Given the description of an element on the screen output the (x, y) to click on. 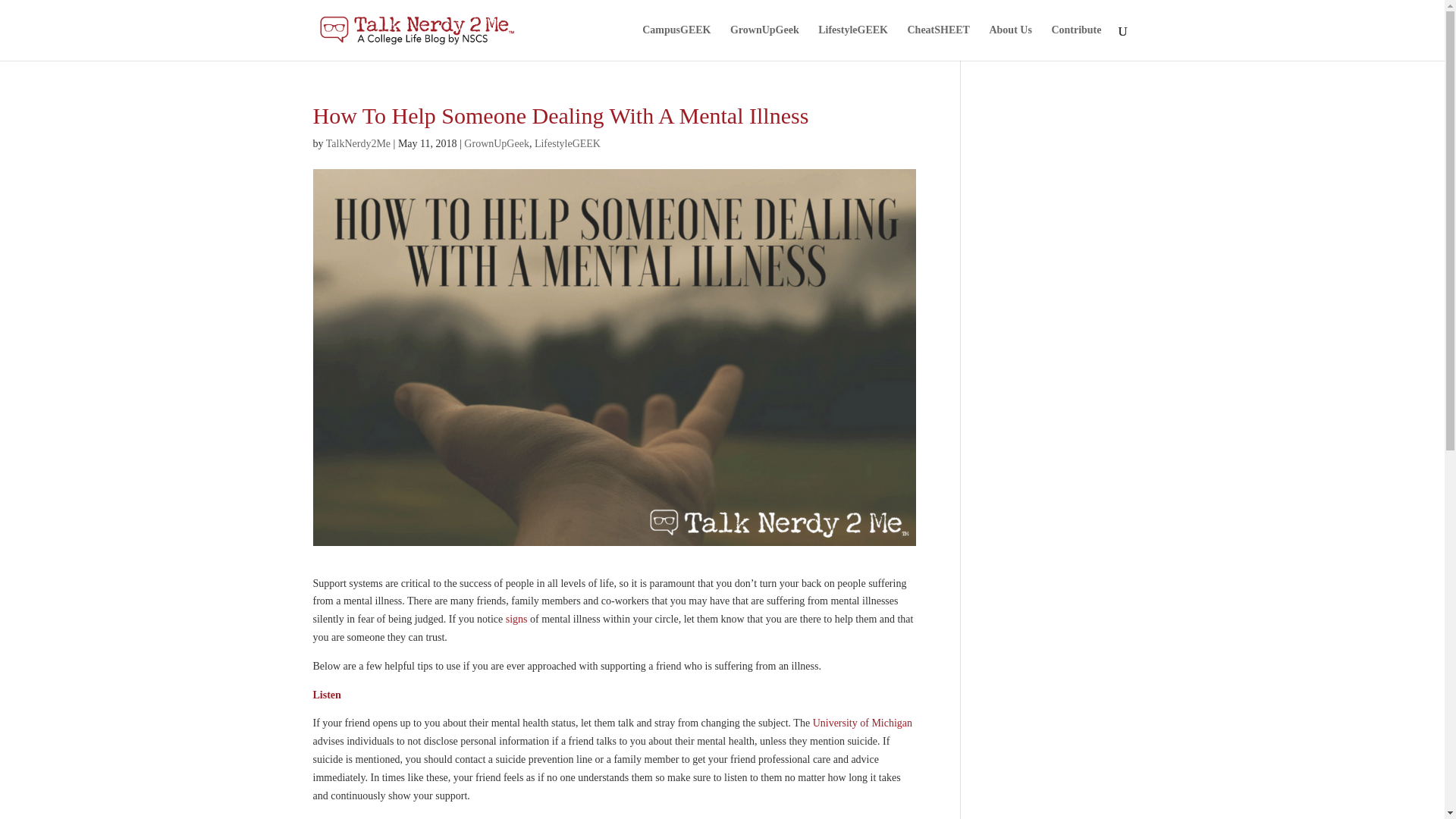
LifestyleGEEK (853, 42)
signs (516, 618)
Contribute (1075, 42)
About Us (1009, 42)
LifestyleGEEK (566, 143)
CheatSHEET (938, 42)
Posts by TalkNerdy2Me (358, 143)
GrownUpGeek (496, 143)
GrownUpGeek (764, 42)
CampusGEEK (676, 42)
